Given the description of an element on the screen output the (x, y) to click on. 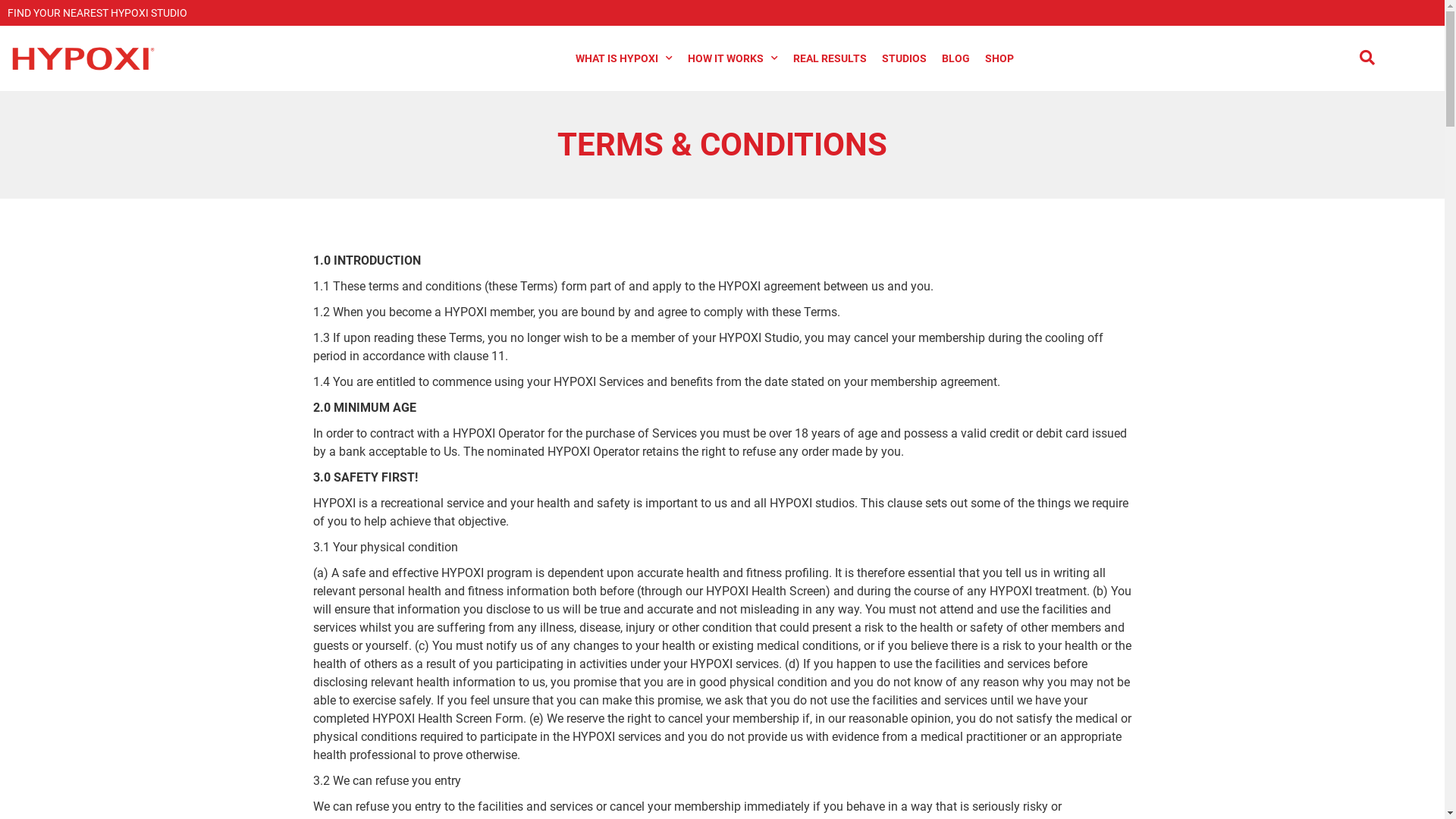
BLOG Element type: text (955, 57)
FIND YOUR NEAREST HYPOXI STUDIO Element type: text (97, 12)
Hypoxi Logo New Element type: hover (83, 57)
HOW IT WORKS Element type: text (732, 57)
REAL RESULTS Element type: text (829, 57)
WHAT IS HYPOXI Element type: text (623, 57)
SHOP Element type: text (999, 57)
STUDIOS Element type: text (903, 57)
